Given the description of an element on the screen output the (x, y) to click on. 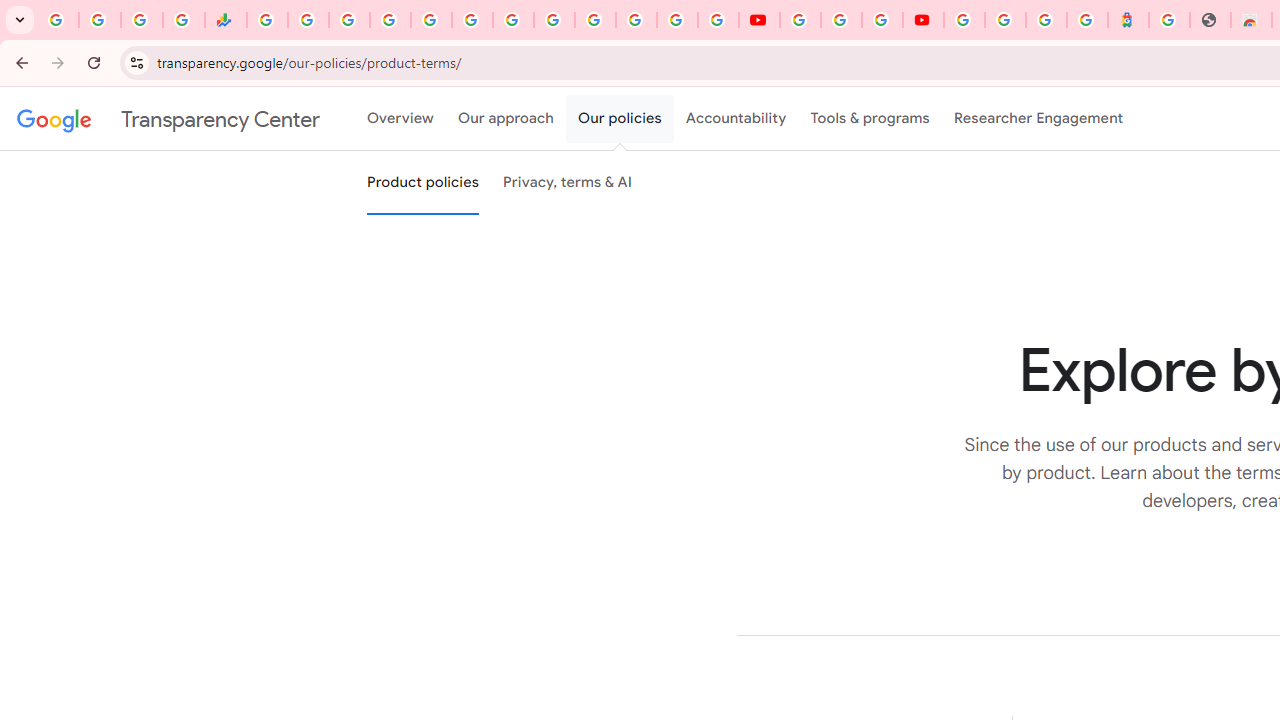
Our approach (506, 119)
Product policies (422, 183)
Google Account Help (840, 20)
Privacy, terms & AI (568, 183)
Android TV Policies and Guidelines - Transparency Center (512, 20)
Overview (399, 119)
YouTube (799, 20)
Researcher Engagement (1038, 119)
Sign in - Google Accounts (676, 20)
